Given the description of an element on the screen output the (x, y) to click on. 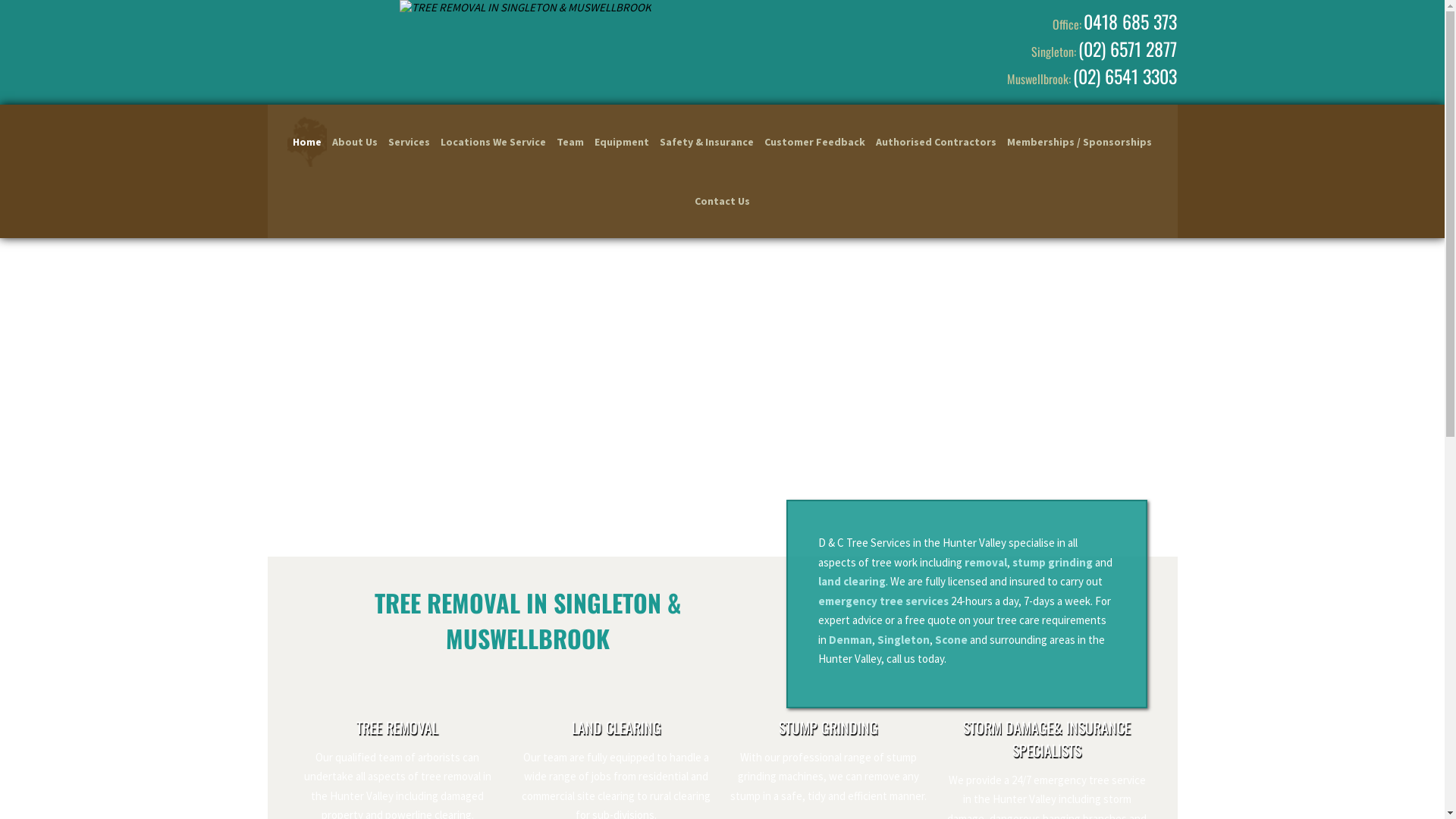
LAND CLEARING Element type: text (616, 726)
(02) 6541 3303 Element type: text (1124, 75)
Services Element type: text (408, 141)
stump grinding Element type: text (1052, 562)
Safety & Insurance Element type: text (706, 141)
About Us Element type: text (354, 141)
Team Element type: text (570, 141)
emergency tree services Element type: text (883, 600)
0418 685 373 Element type: text (1129, 20)
Singleton Element type: text (903, 639)
Home Element type: text (306, 141)
Denman Element type: text (850, 639)
Locations We Service Element type: text (493, 141)
land clearing Element type: text (851, 581)
Authorised Contractors Element type: text (935, 141)
Contact Us Element type: text (722, 200)
STUMP GRINDING Element type: text (828, 726)
Memberships / Sponsorships Element type: text (1079, 141)
Equipment Element type: text (621, 141)
(02) 6571 2877 Element type: text (1127, 48)
TREE REMOVAL IN SINGLETON & MUSWELLBROOK Element type: hover (525, 37)
removal Element type: text (985, 562)
Customer Feedback Element type: text (814, 141)
STORM DAMAGE& INSURANCE SPECIALISTS Element type: text (1046, 738)
Scone Element type: text (951, 639)
TREE REMOVAL Element type: text (397, 726)
